Given the description of an element on the screen output the (x, y) to click on. 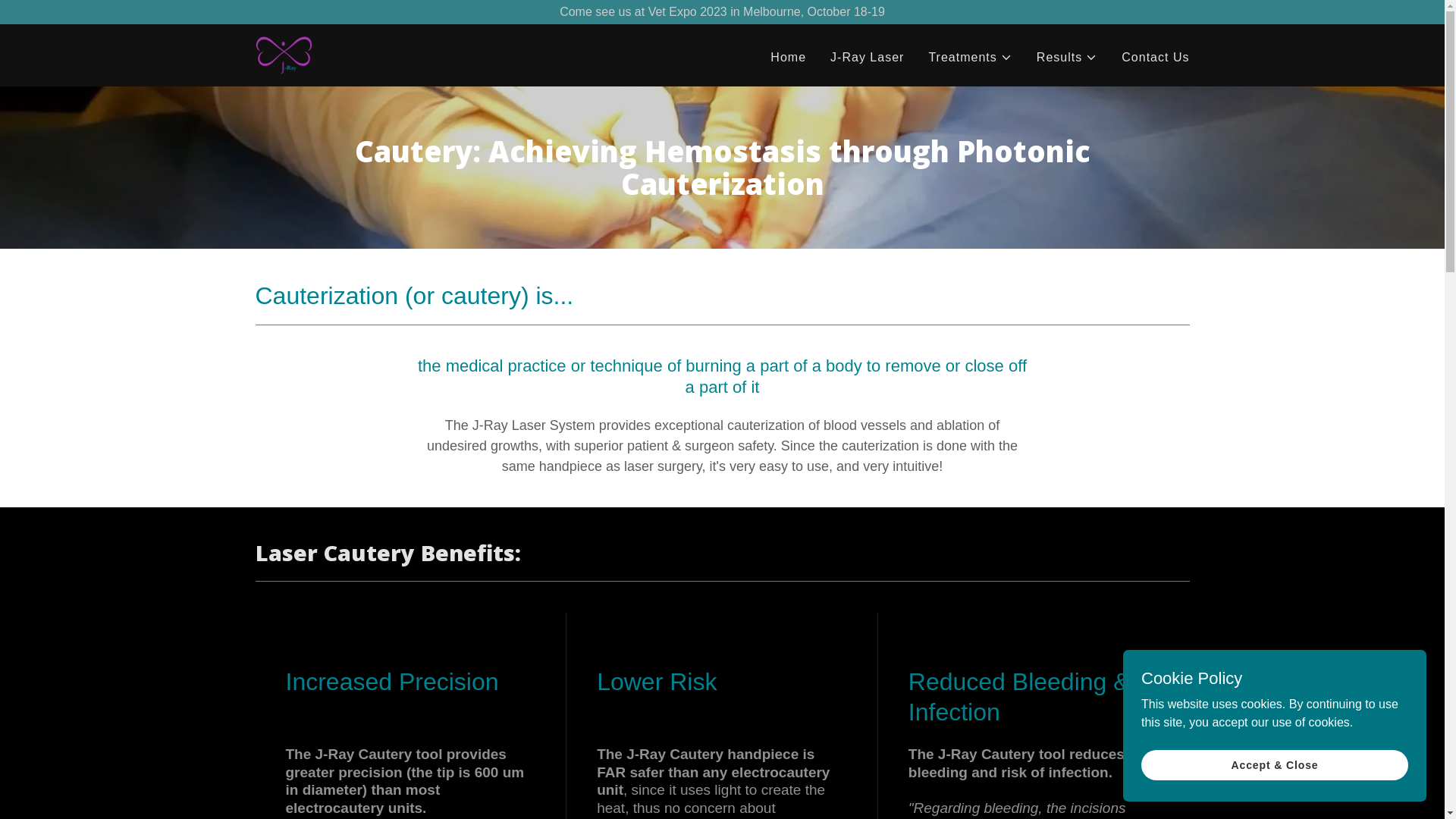
Home Element type: text (787, 57)
Contact Us Element type: text (1155, 57)
J-Ray  Laser Systems Element type: hover (283, 53)
Results Element type: text (1066, 57)
J-Ray Laser Element type: text (866, 57)
Come see us at Vet Expo 2023 in Melbourne, October 18-19 Element type: text (722, 12)
Treatments Element type: text (969, 57)
Accept & Close Element type: text (1274, 764)
